Given the description of an element on the screen output the (x, y) to click on. 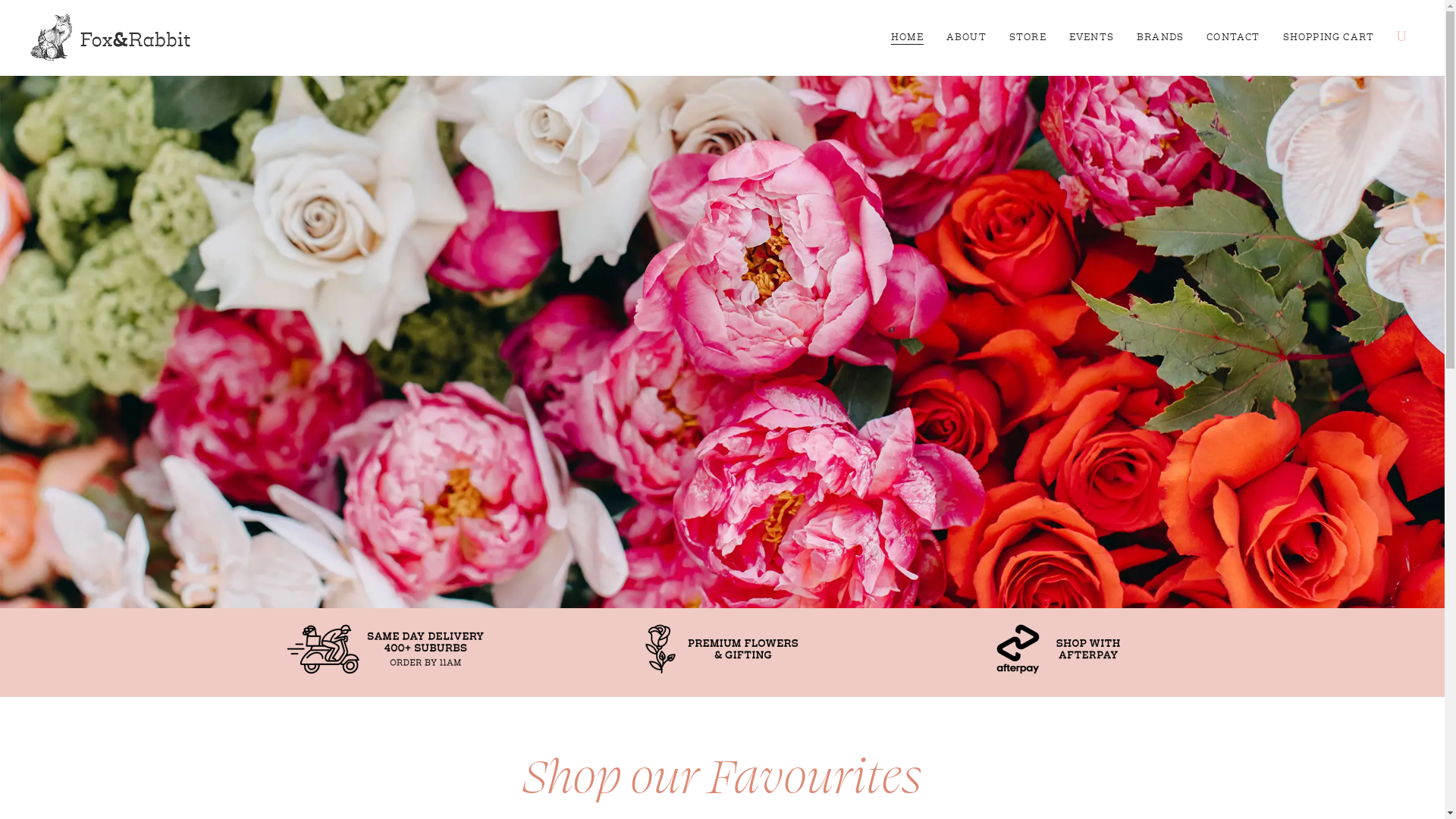
EVENTS Element type: text (1091, 37)
BRANDS Element type: text (1160, 37)
HOME Element type: text (907, 37)
ABOUT Element type: text (966, 37)
STORE Element type: text (1027, 37)
SHOPPING CART Element type: text (1328, 37)
CONTACT Element type: text (1232, 37)
